Given the description of an element on the screen output the (x, y) to click on. 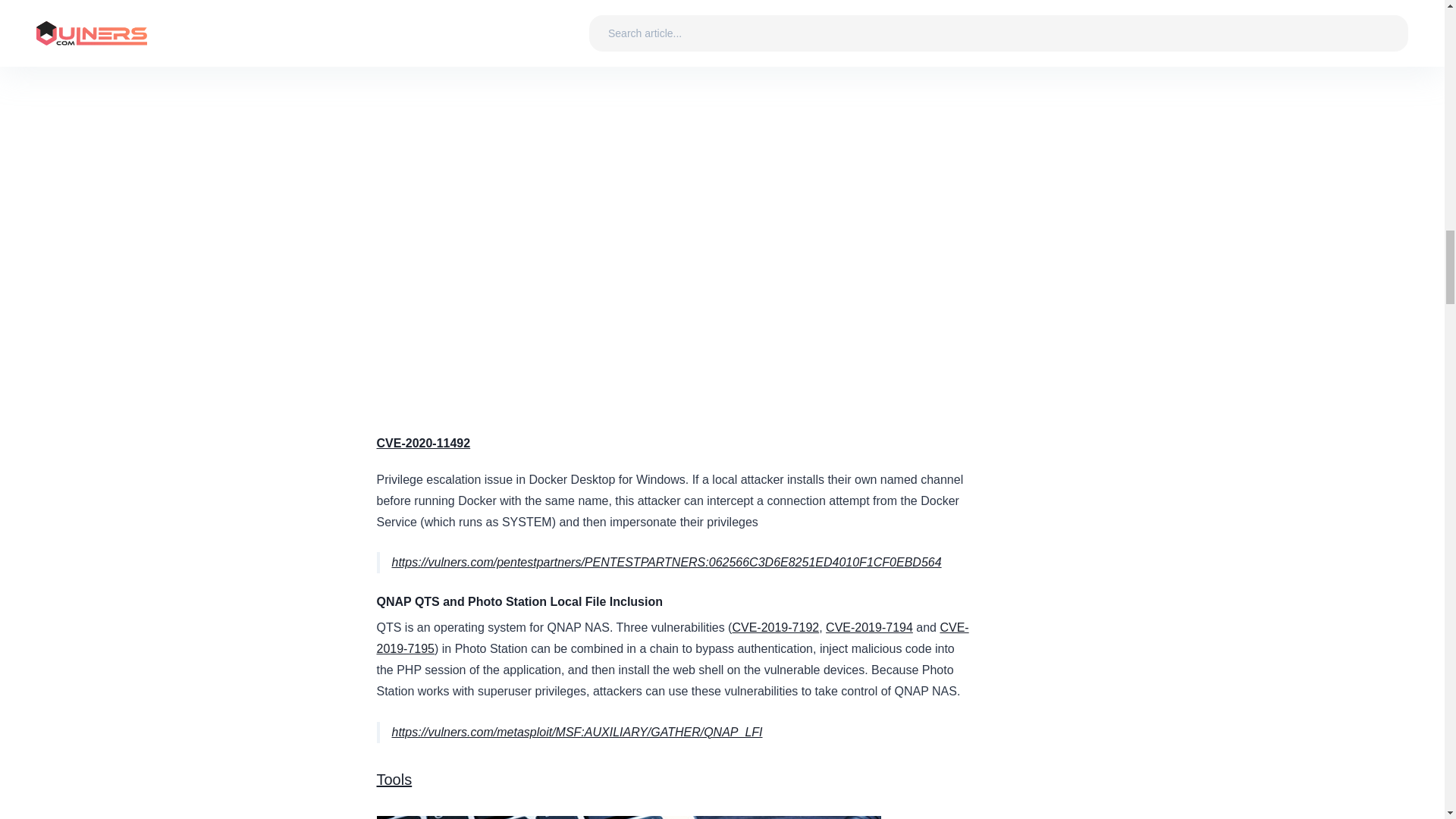
Tools (393, 779)
CVE-2019-7192 (775, 626)
CVE-2019-7195 (671, 637)
CVE-2019-7194 (868, 626)
CVE-2020-11492 (422, 442)
